Given the description of an element on the screen output the (x, y) to click on. 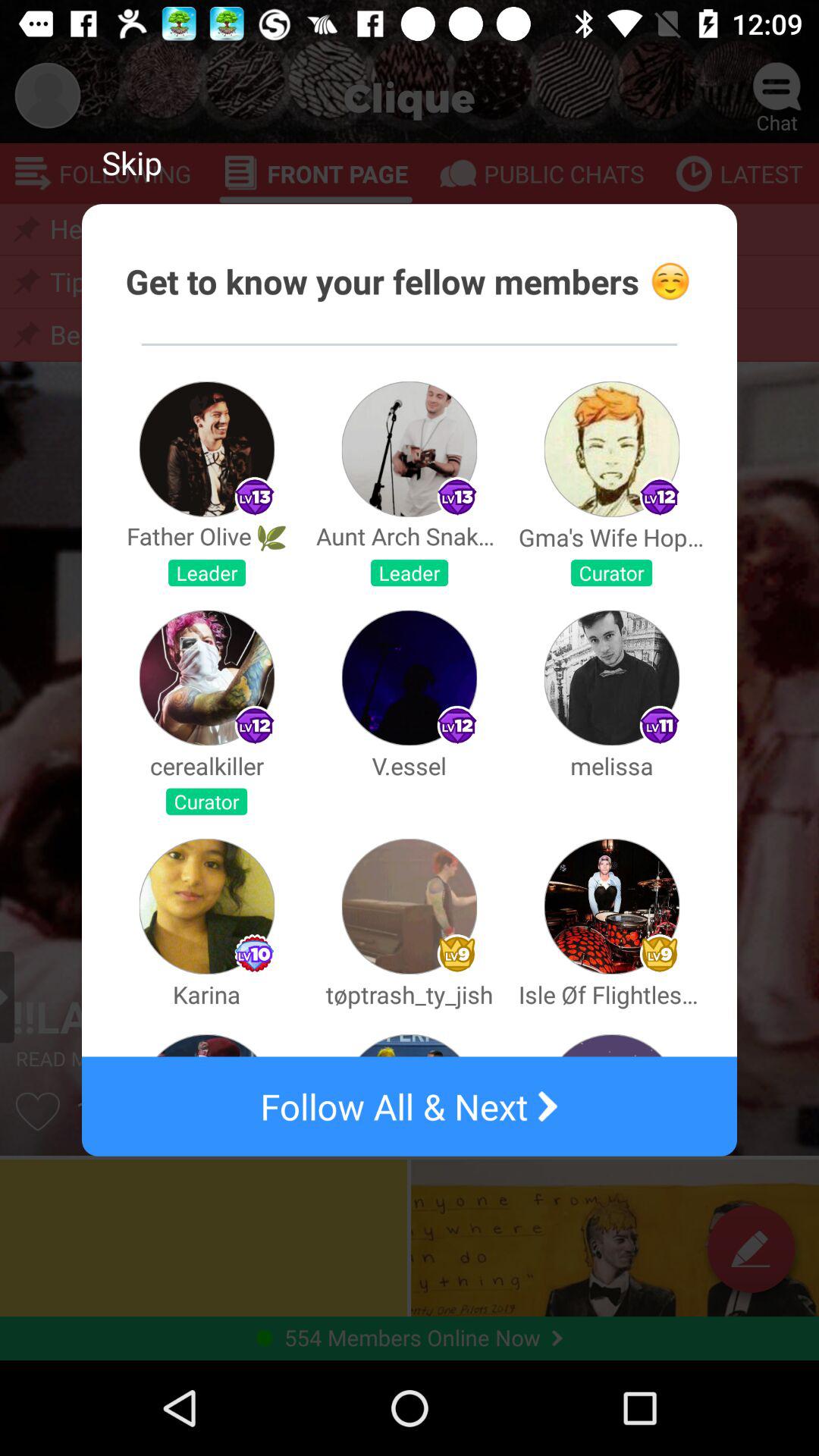
turn off app above the get to know item (131, 162)
